Given the description of an element on the screen output the (x, y) to click on. 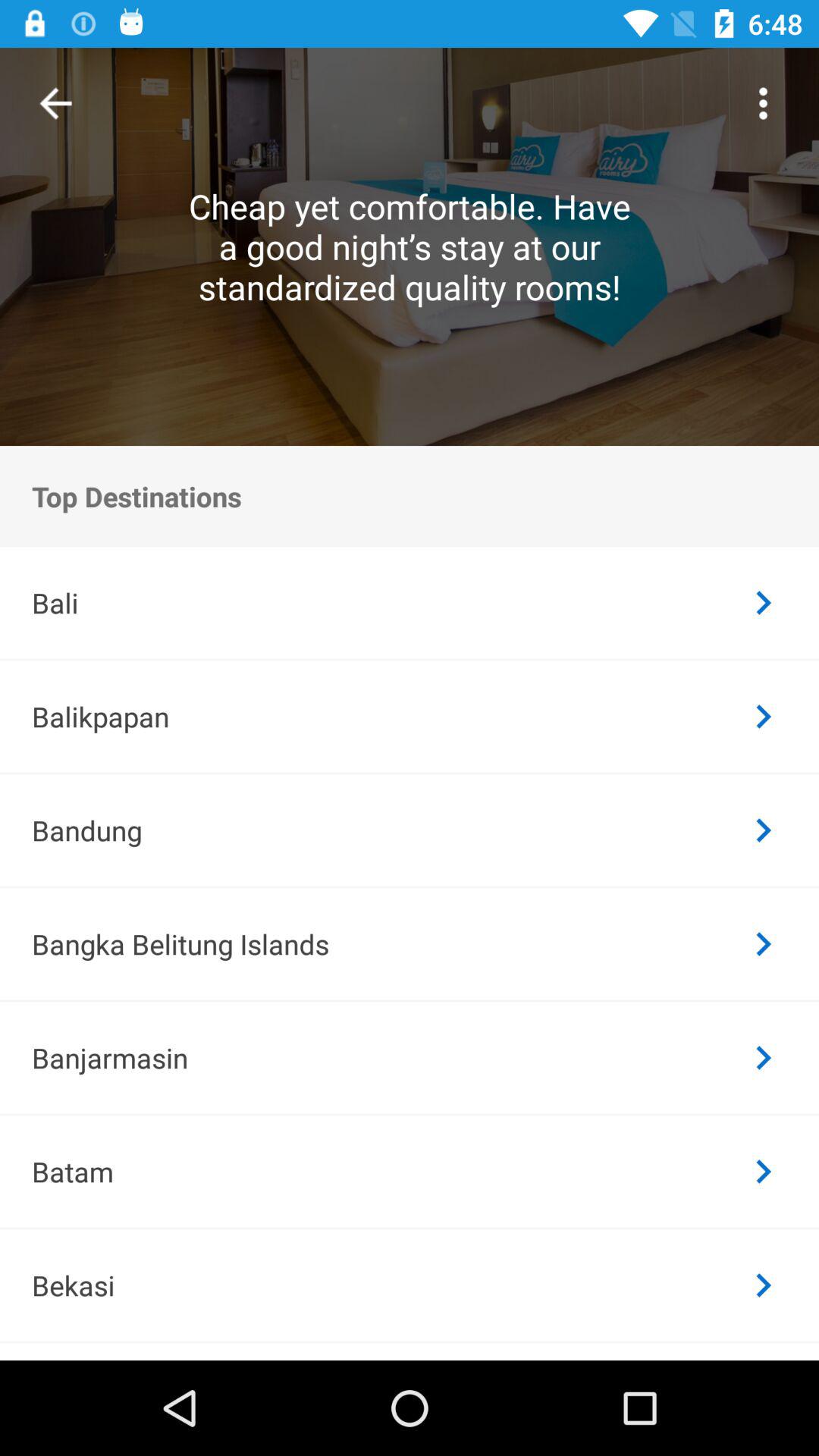
button back (55, 103)
